Given the description of an element on the screen output the (x, y) to click on. 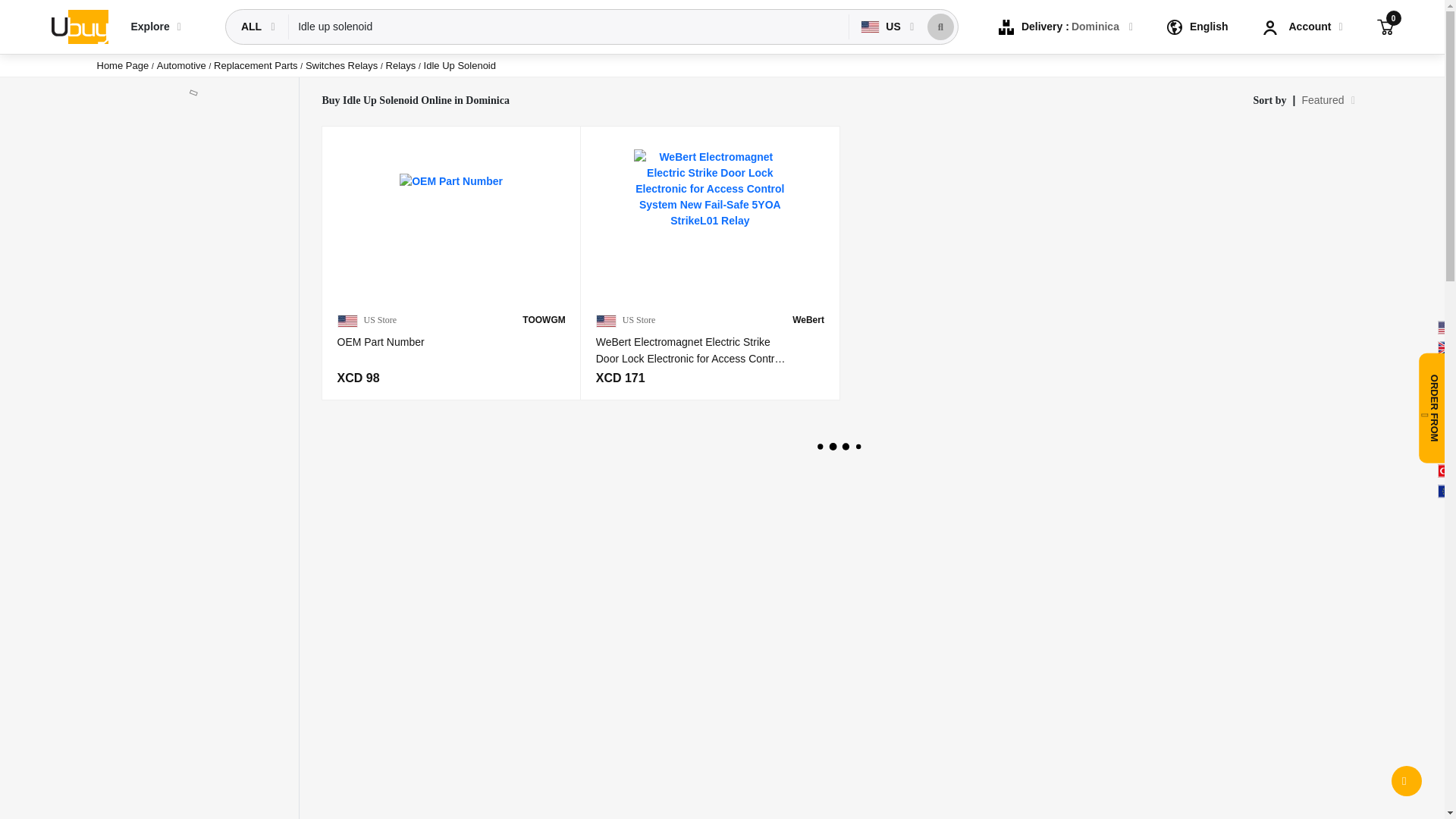
US (881, 26)
0 (1385, 26)
Ubuy (78, 26)
Idle up solenoid (568, 26)
ALL (253, 26)
